Given the description of an element on the screen output the (x, y) to click on. 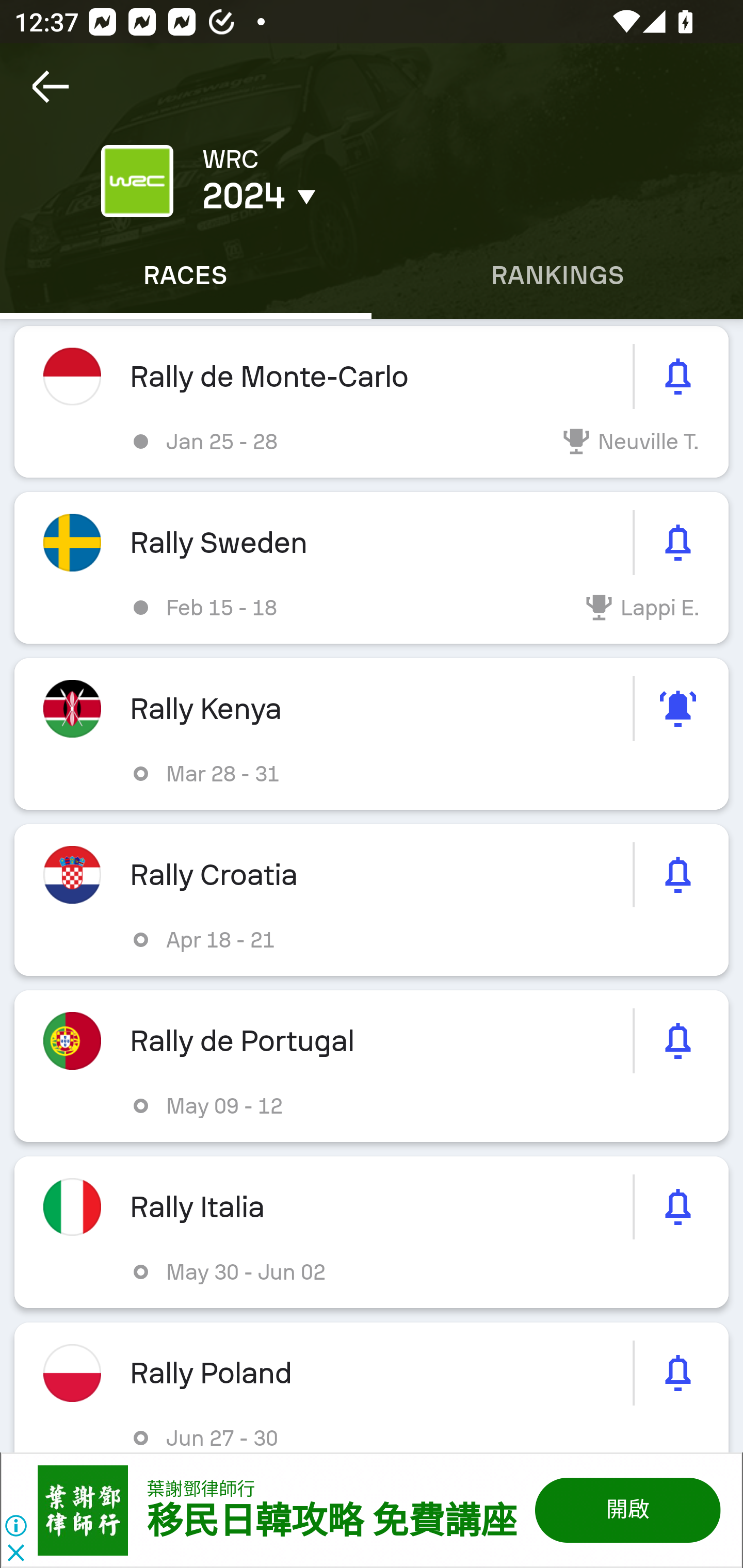
Navigate up (50, 86)
2024 (350, 195)
Rankings RANKINGS (557, 275)
Rally Sweden picture Feb 15 - 18 Lappi E. (371, 568)
Rally Kenya picture Mar 28 - 31 (371, 733)
Rally Croatia picture Apr 18 - 21 (371, 899)
Rally de Portugal picture May 09 - 12 (371, 1065)
Rally Italia picture May 30 - Jun 02 (371, 1232)
Rally Poland picture Jun 27 - 30 (371, 1386)
葉謝鄧律師行 (200, 1488)
開啟 (626, 1509)
移民日韓攻略 免費講座 (330, 1521)
